Given the description of an element on the screen output the (x, y) to click on. 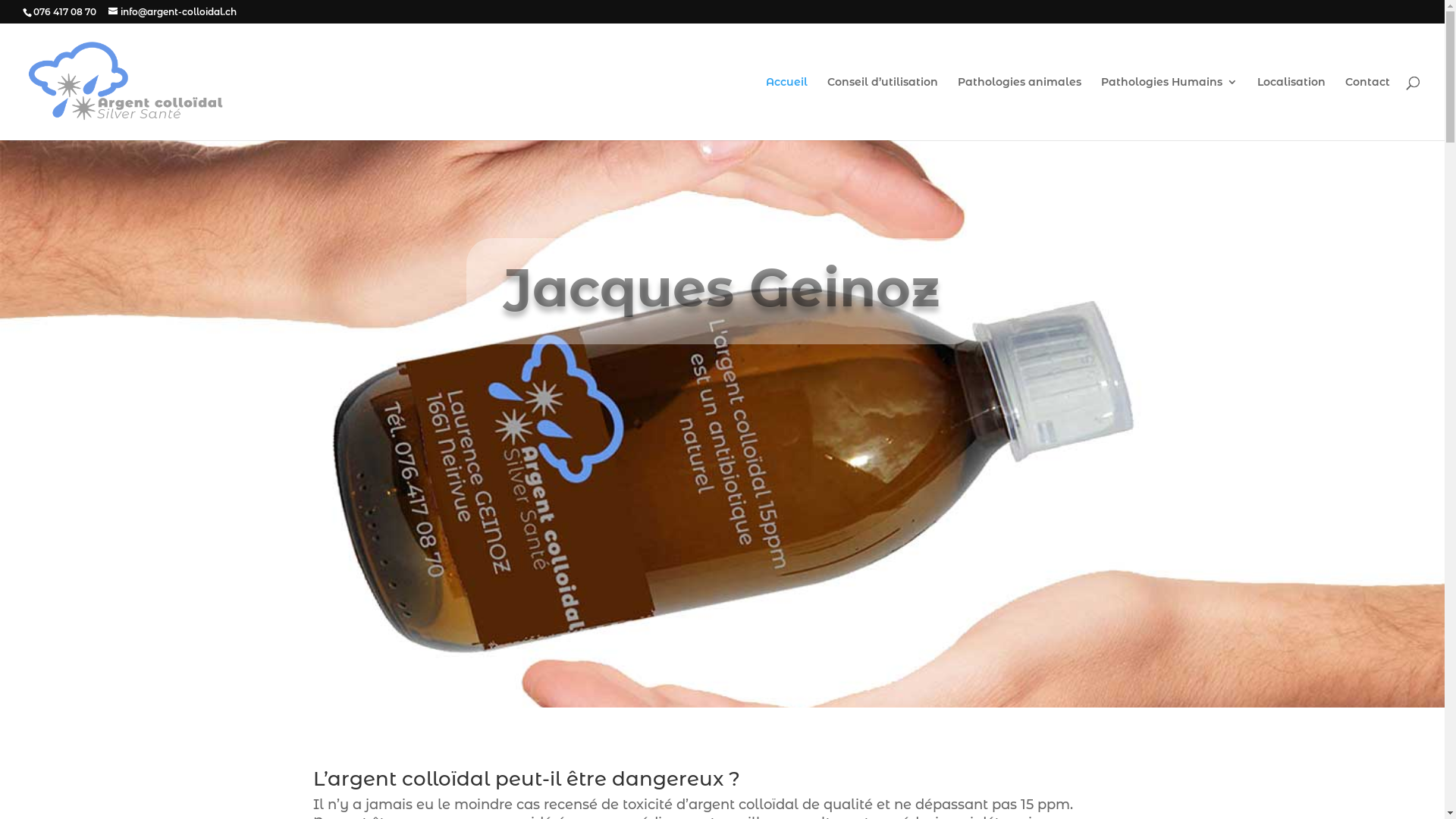
Pathologies Humains Element type: text (1169, 108)
Localisation Element type: text (1291, 108)
info@argent-colloidal.ch Element type: text (172, 11)
Contact Element type: text (1367, 108)
Accueil Element type: text (786, 108)
Pathologies animales Element type: text (1019, 108)
